Given the description of an element on the screen output the (x, y) to click on. 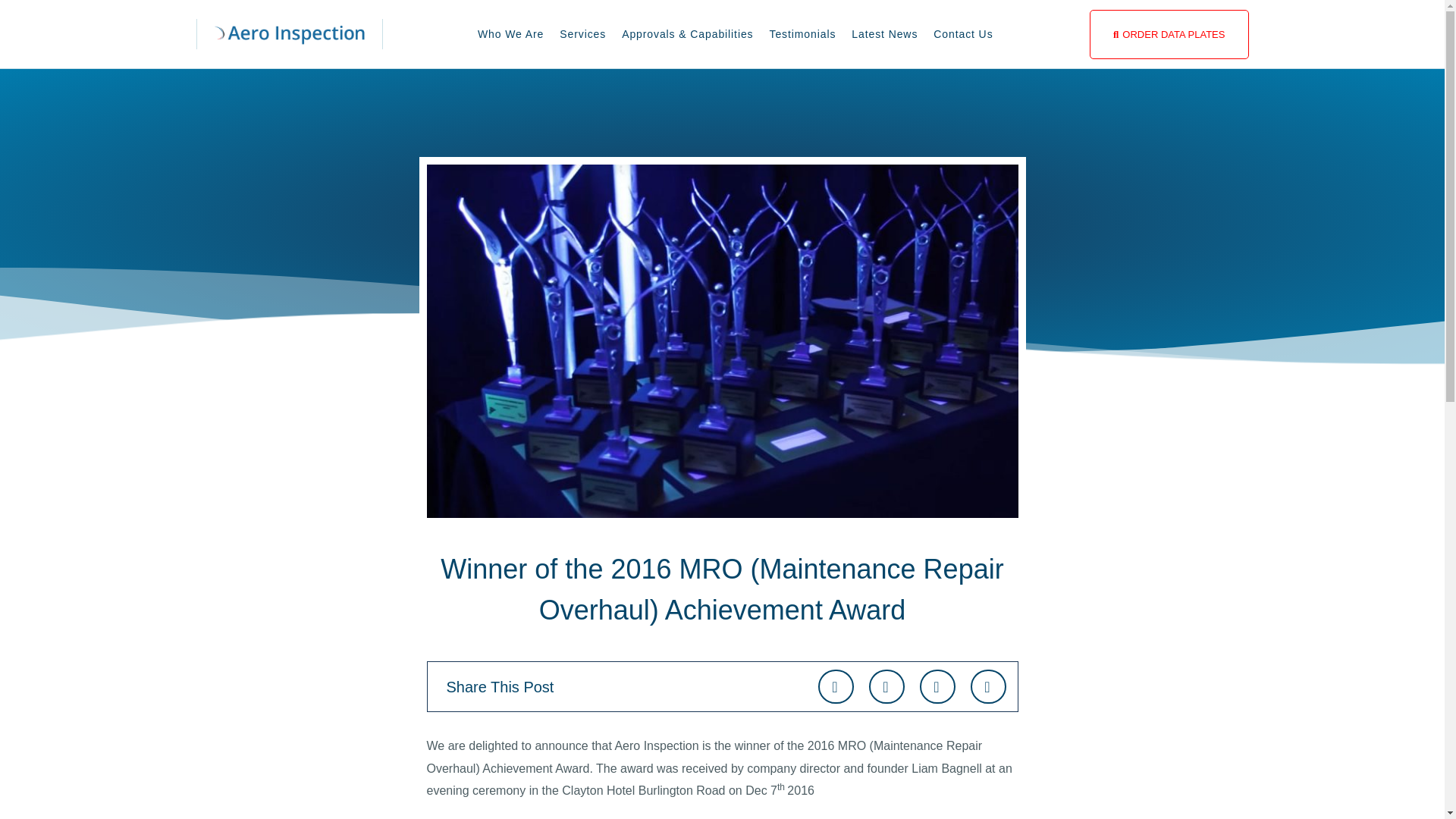
Who We Are (510, 33)
Testimonials (802, 33)
Contact Us (962, 33)
Services (582, 33)
Latest News (884, 33)
